Given the description of an element on the screen output the (x, y) to click on. 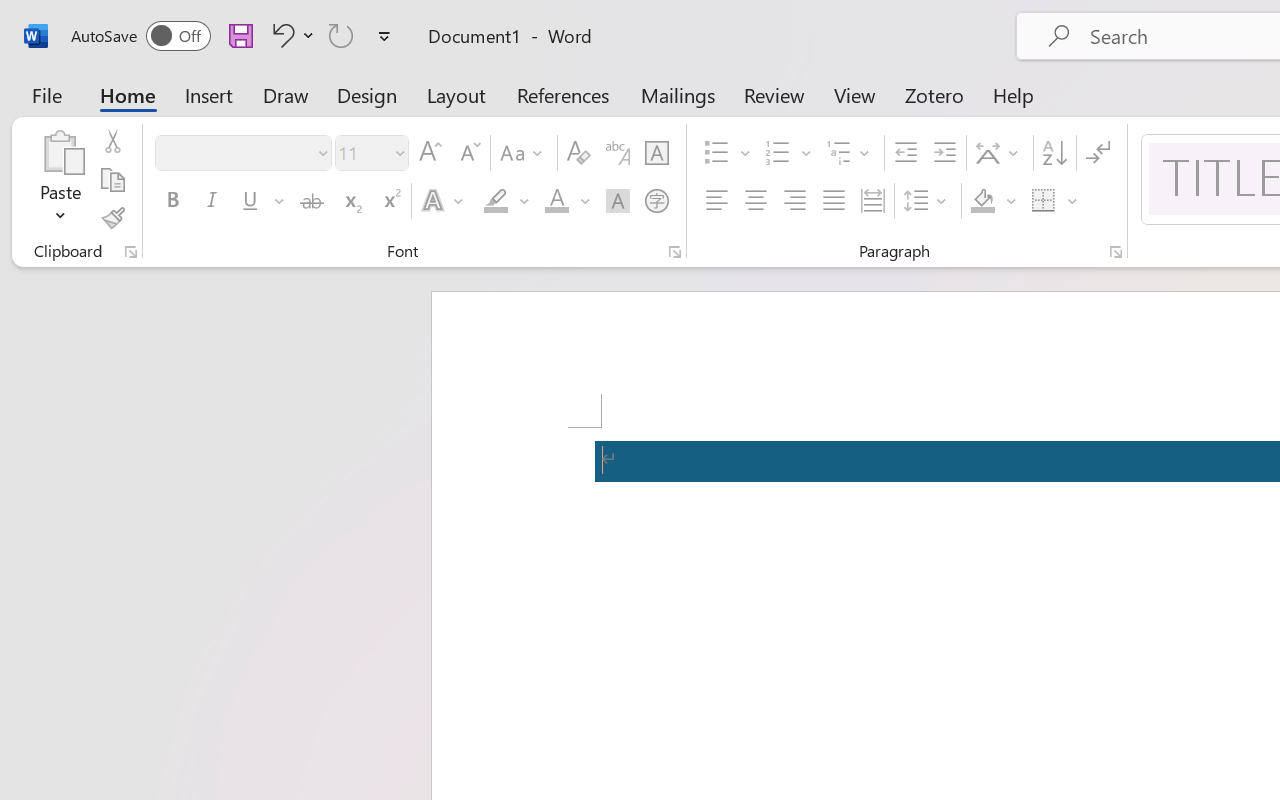
Undo Apply Quick Style Set (290, 35)
Text Highlight Color RGB(255, 255, 0) (495, 201)
